Given the description of an element on the screen output the (x, y) to click on. 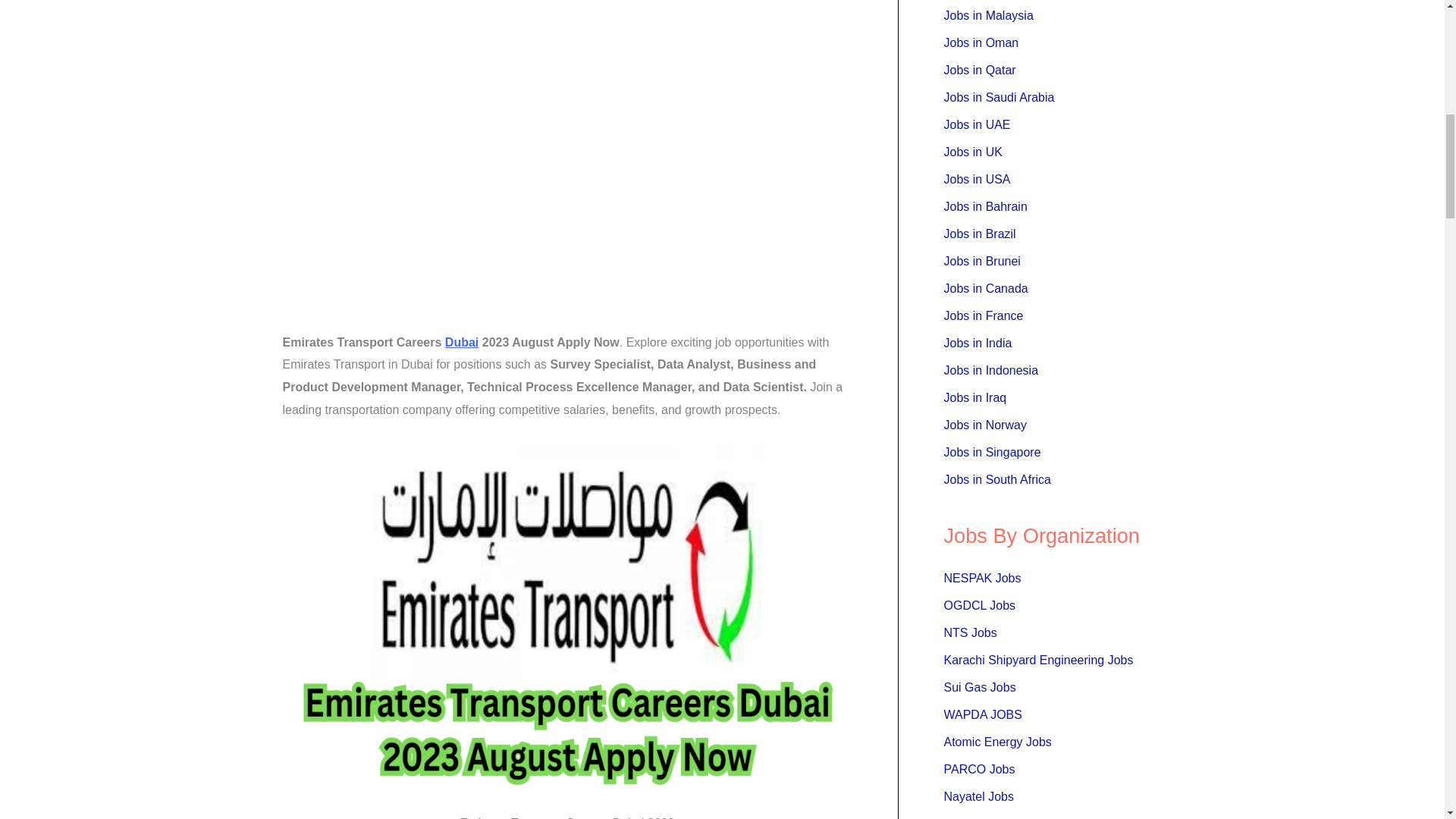
Advertisement (566, 197)
